Given the description of an element on the screen output the (x, y) to click on. 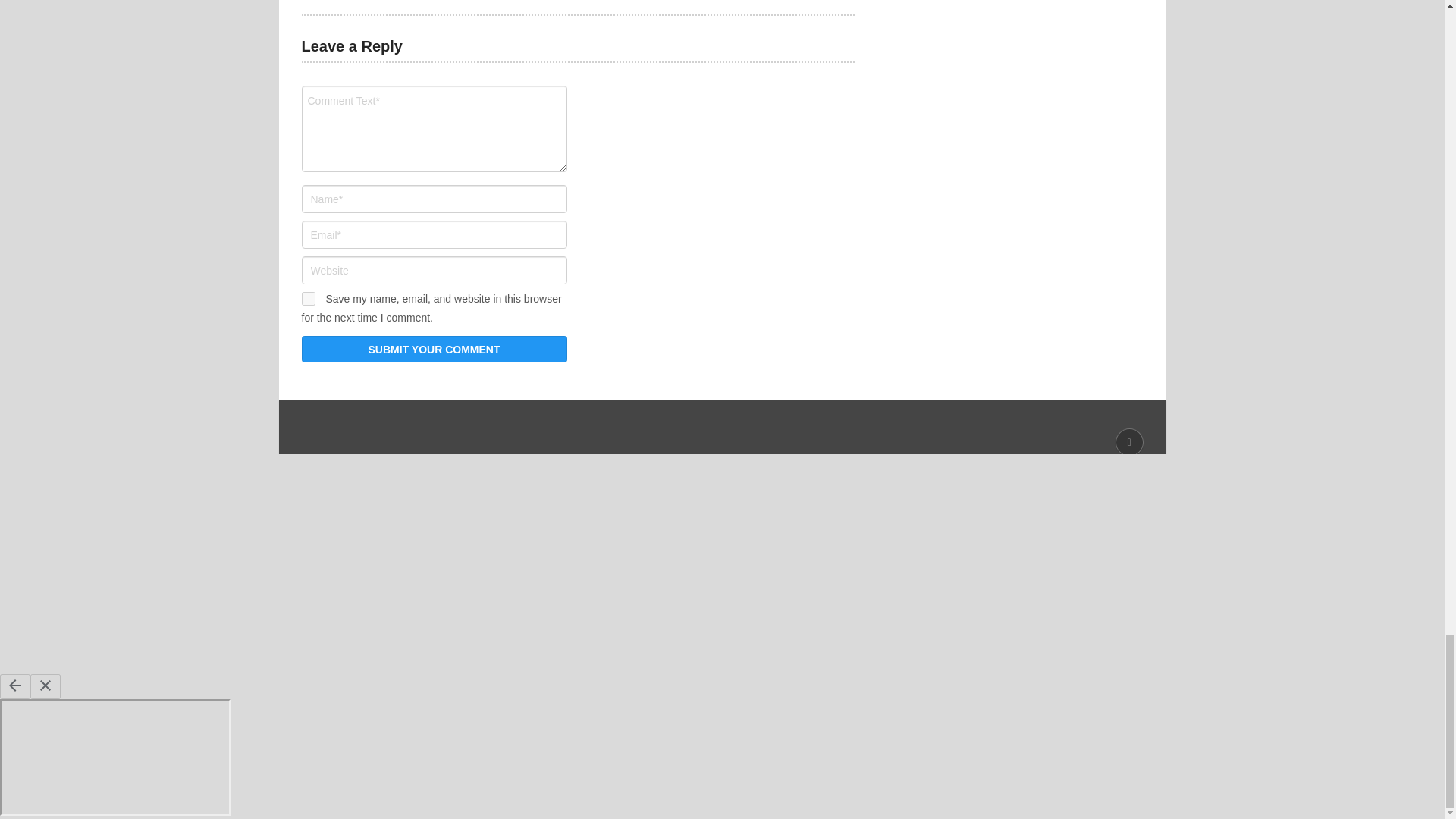
yes (308, 298)
Submit Your Comment (434, 348)
